Given the description of an element on the screen output the (x, y) to click on. 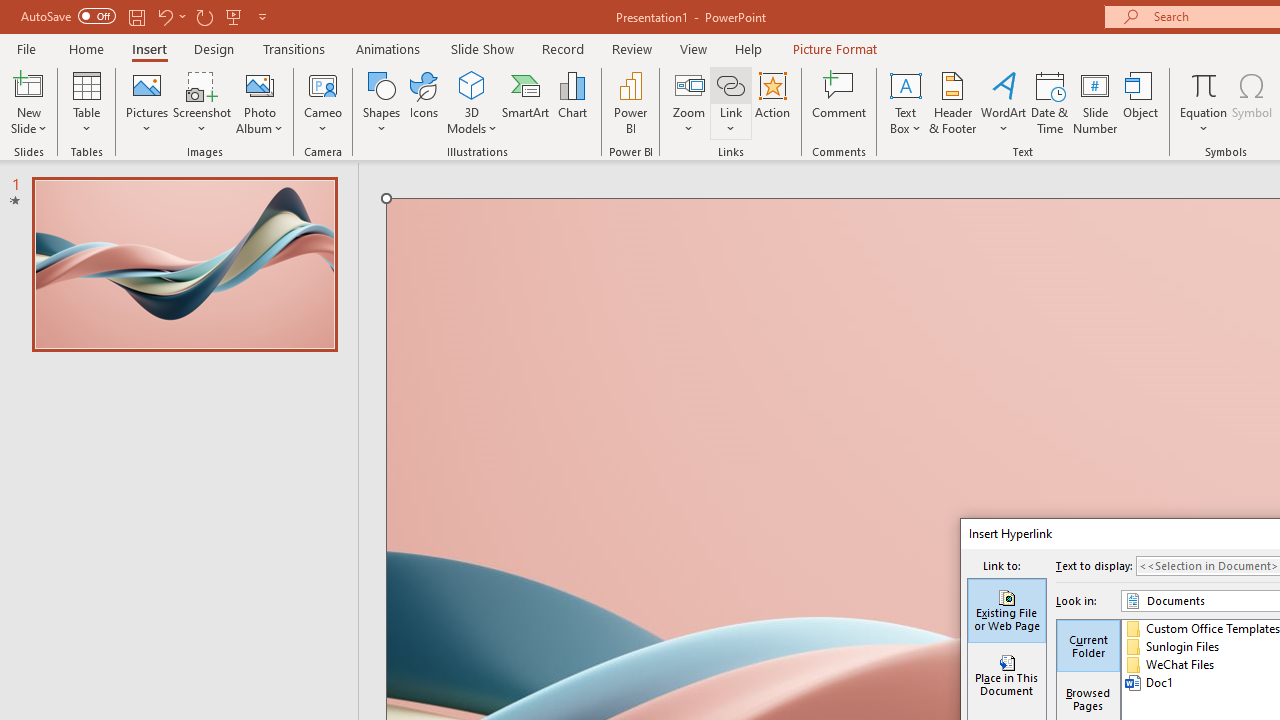
Power BI (630, 102)
Draw Horizontal Text Box (905, 84)
Object... (1141, 102)
New Photo Album... (259, 84)
